Given the description of an element on the screen output the (x, y) to click on. 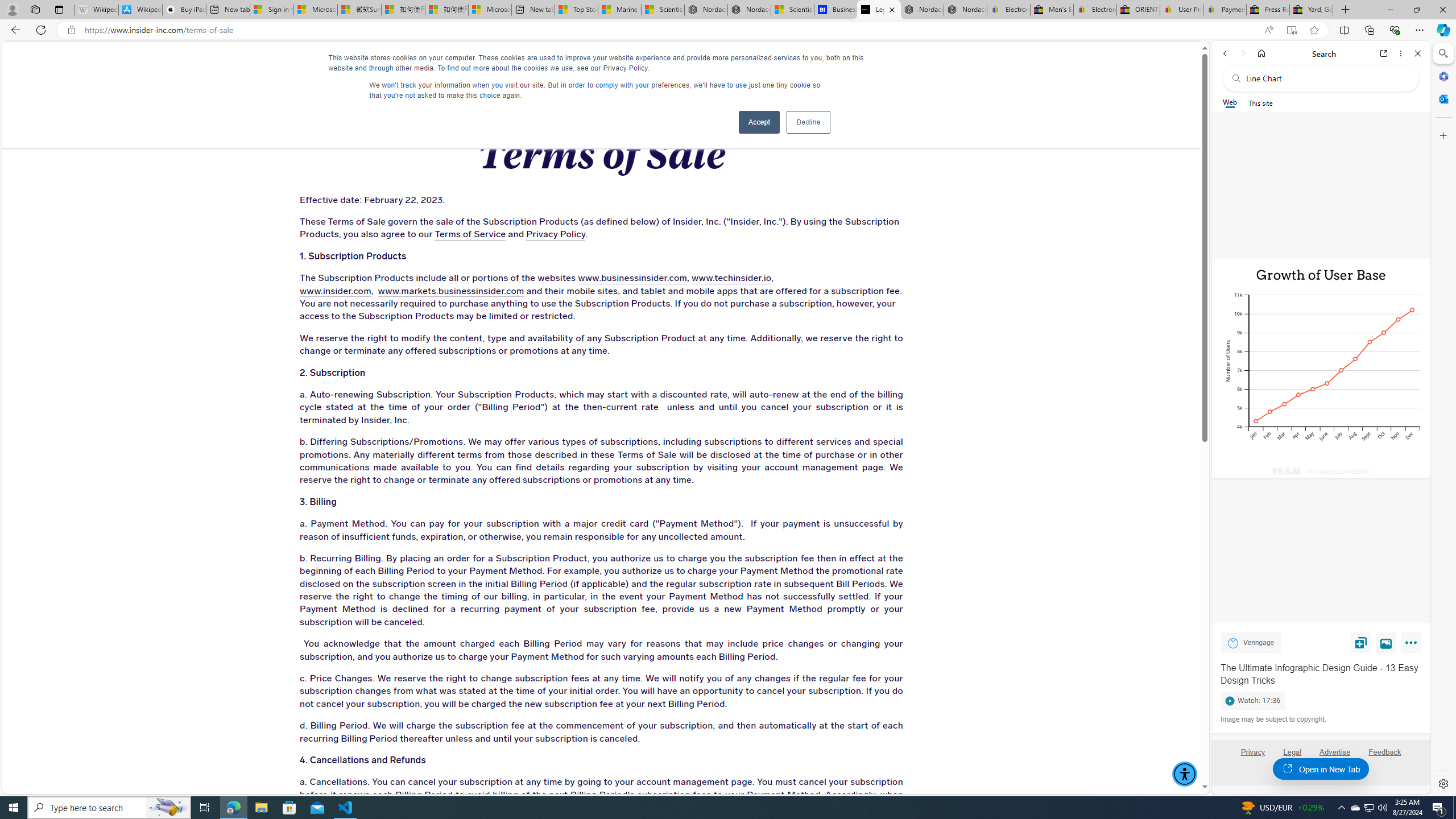
WHAT WE DO (260, 62)
www.techinsider.io (731, 278)
Open in New Tab (1321, 768)
Payments Terms of Use | eBay.com (1224, 9)
Insider Inc. (601, 62)
Privacy Policy (555, 234)
CONTACT US (942, 62)
